Given the description of an element on the screen output the (x, y) to click on. 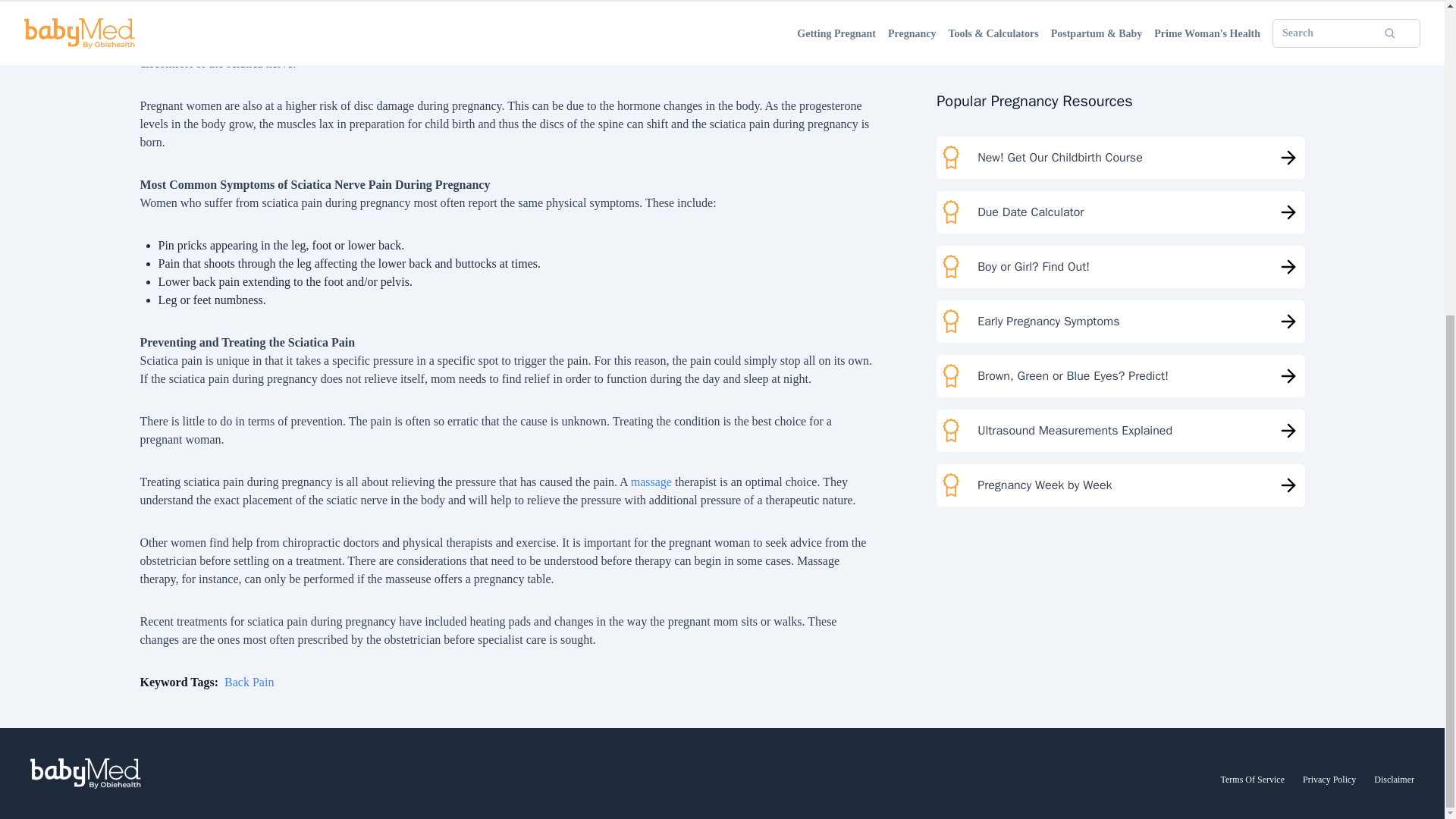
massage (650, 481)
Pregnancy Week by Week (1120, 218)
Terms Of Service (1252, 778)
Keyword Tags:Back Pain (206, 681)
Ultrasound Measurements Explained (1120, 163)
Sciatica in Pregnancy (834, 23)
Early Pregnancy Symptoms (1120, 54)
Boy or Girl? Find Out! (1120, 10)
Privacy Policy (1329, 778)
Disclaimer (1393, 778)
